Given the description of an element on the screen output the (x, y) to click on. 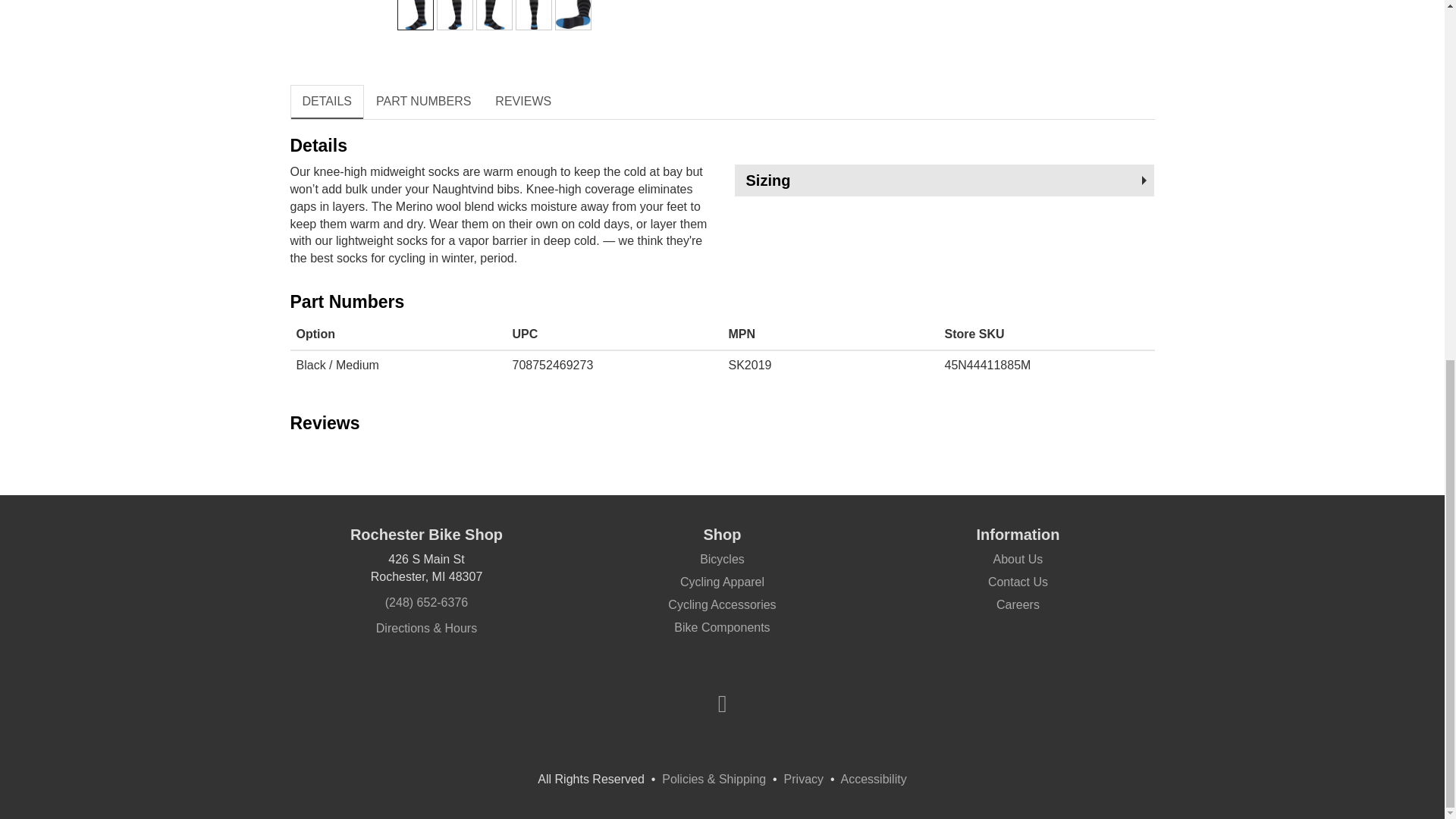
Color: Black (414, 14)
